Given the description of an element on the screen output the (x, y) to click on. 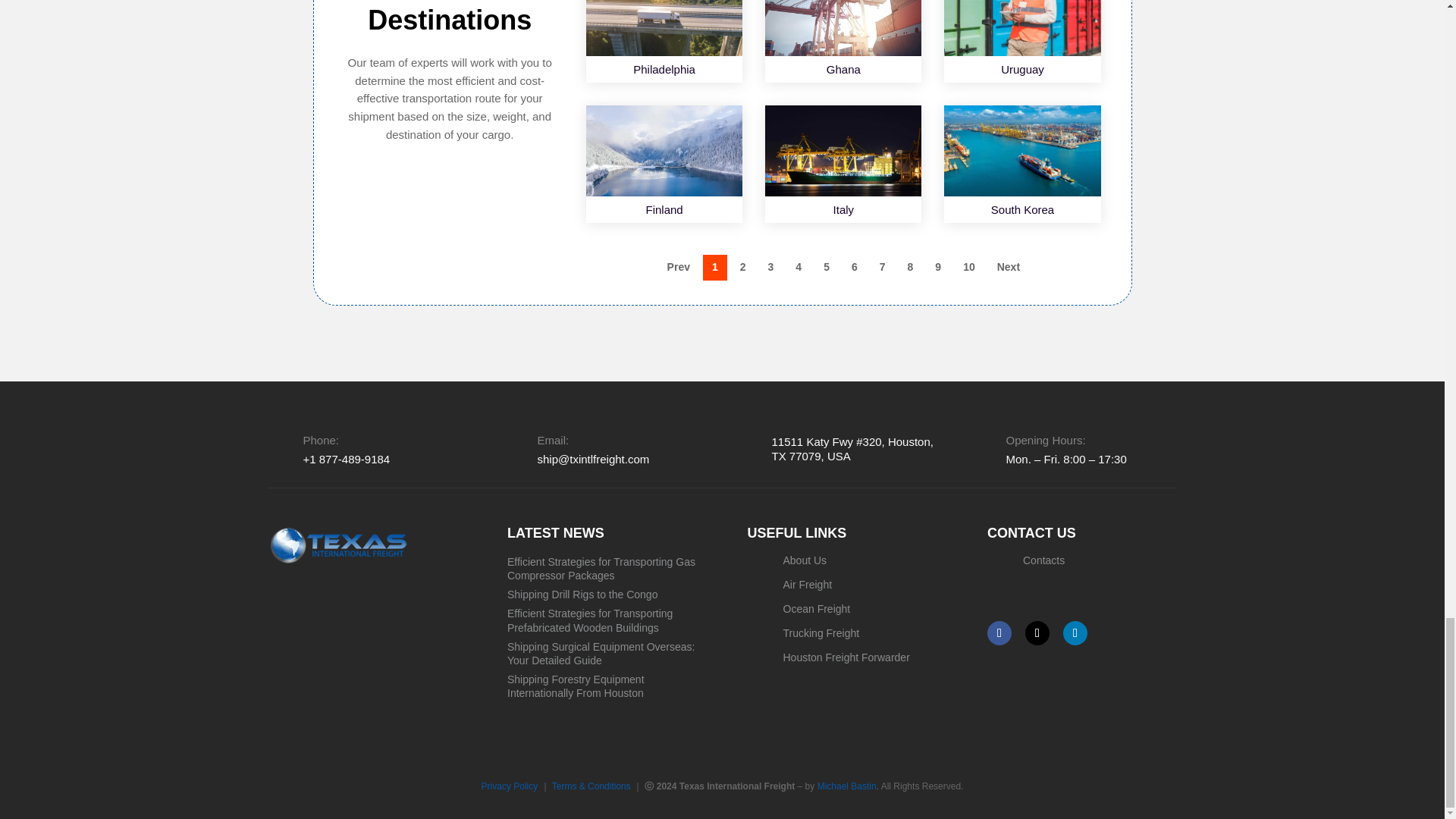
Follow on Facebook (999, 632)
